Given the description of an element on the screen output the (x, y) to click on. 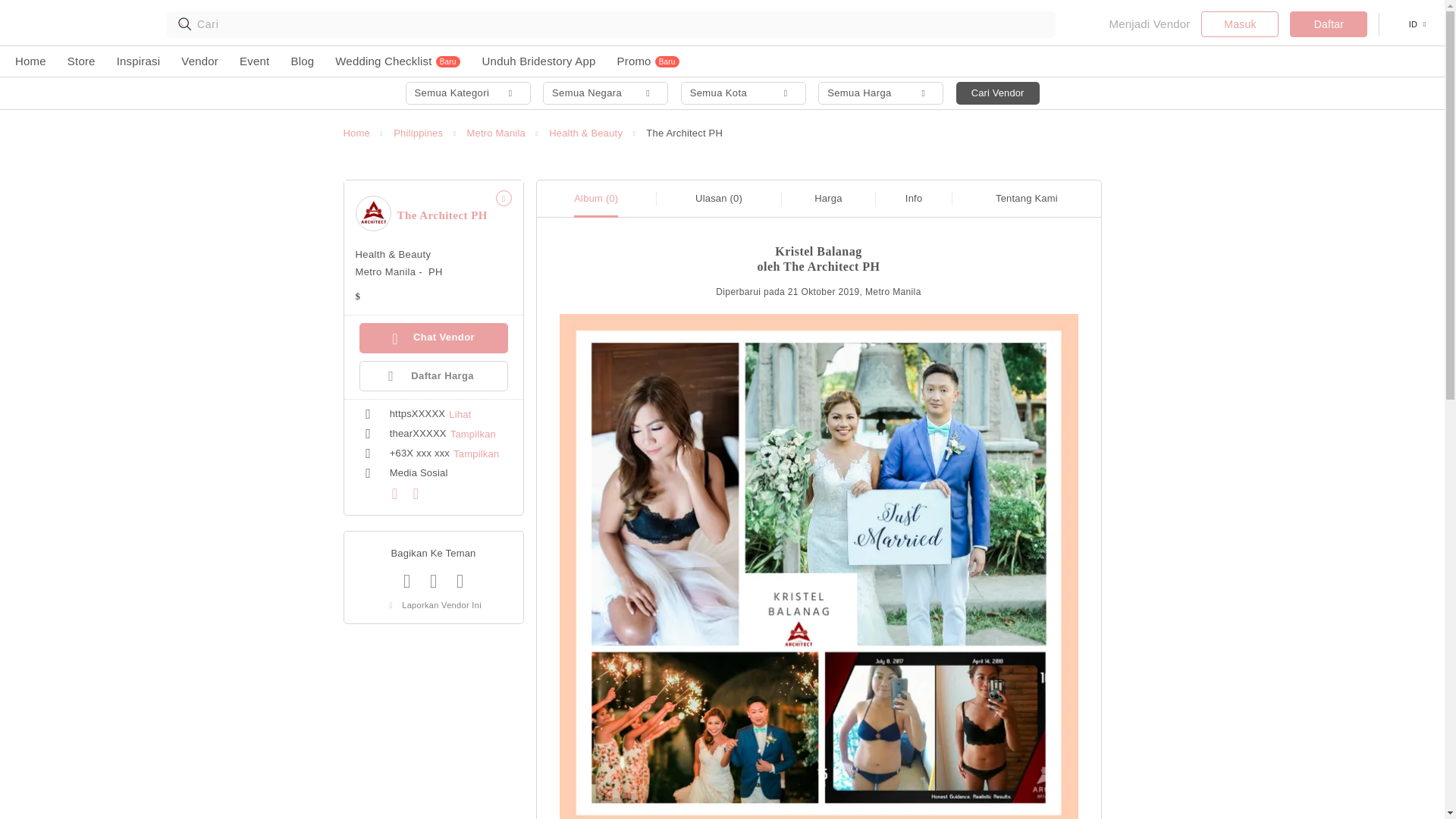
Cari Vendor (997, 92)
Home (30, 60)
Inspirasi (138, 60)
The Architect PH (372, 212)
Daftar (1328, 23)
Harga (827, 197)
 Laporkan Vendor Ini (433, 604)
Store (81, 60)
Home (355, 132)
Tampilkan (475, 453)
